Given the description of an element on the screen output the (x, y) to click on. 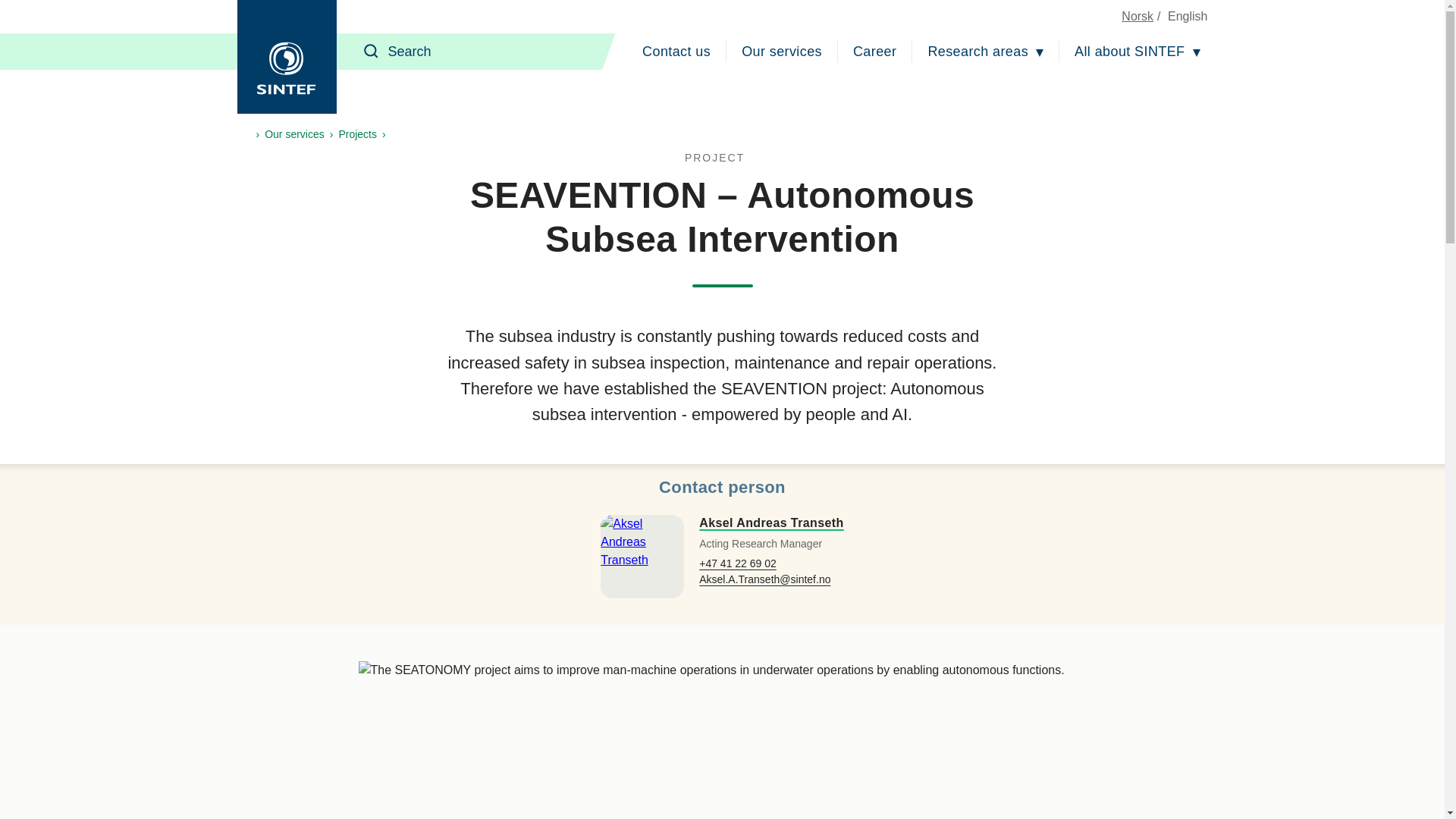
All about SINTEF (1137, 51)
Norsk (1137, 16)
Contact us (675, 51)
All projects (722, 157)
Our services (781, 51)
Research areas (985, 51)
Career (874, 51)
